Given the description of an element on the screen output the (x, y) to click on. 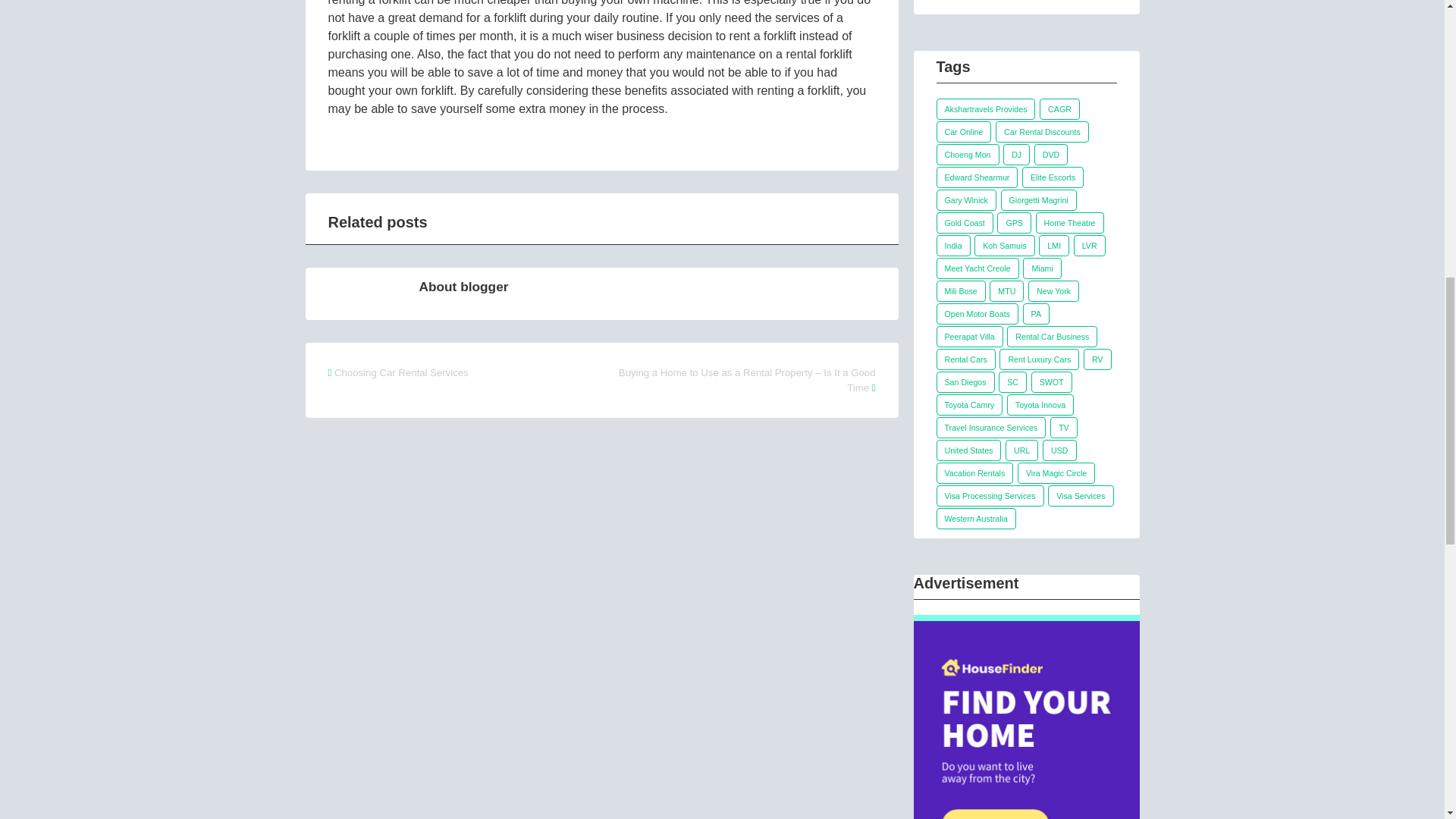
DJ (1016, 154)
Car Rental Discounts (1042, 131)
Choeng Mon (967, 154)
Choosing Car Rental Services (401, 372)
Car Online (963, 131)
Giorgetti Magrini (1039, 199)
GPS (1013, 222)
CAGR (1059, 108)
Gary Winick (965, 199)
DVD (1050, 154)
